Given the description of an element on the screen output the (x, y) to click on. 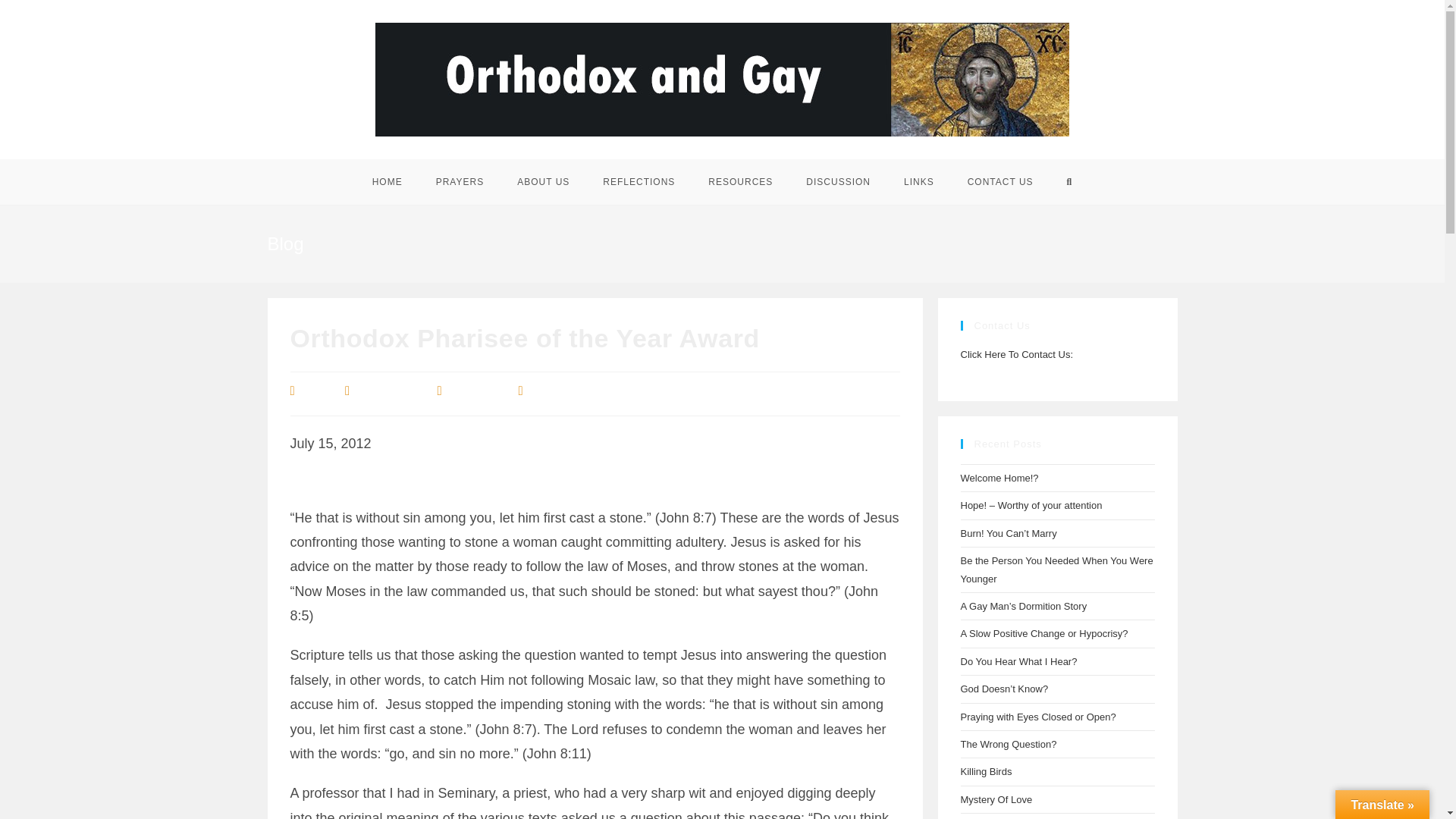
1 Comment (557, 390)
Click Here To Contact Us: (1016, 354)
CONTACT US (999, 181)
REFLECTIONS (638, 181)
DISCUSSION (837, 181)
Welcome Home!? (998, 478)
LINKS (918, 181)
andre (315, 390)
RESOURCES (740, 181)
HOME (387, 181)
Posts by andre (315, 390)
PRAYERS (459, 181)
Reflections (475, 390)
ABOUT US (543, 181)
